Given the description of an element on the screen output the (x, y) to click on. 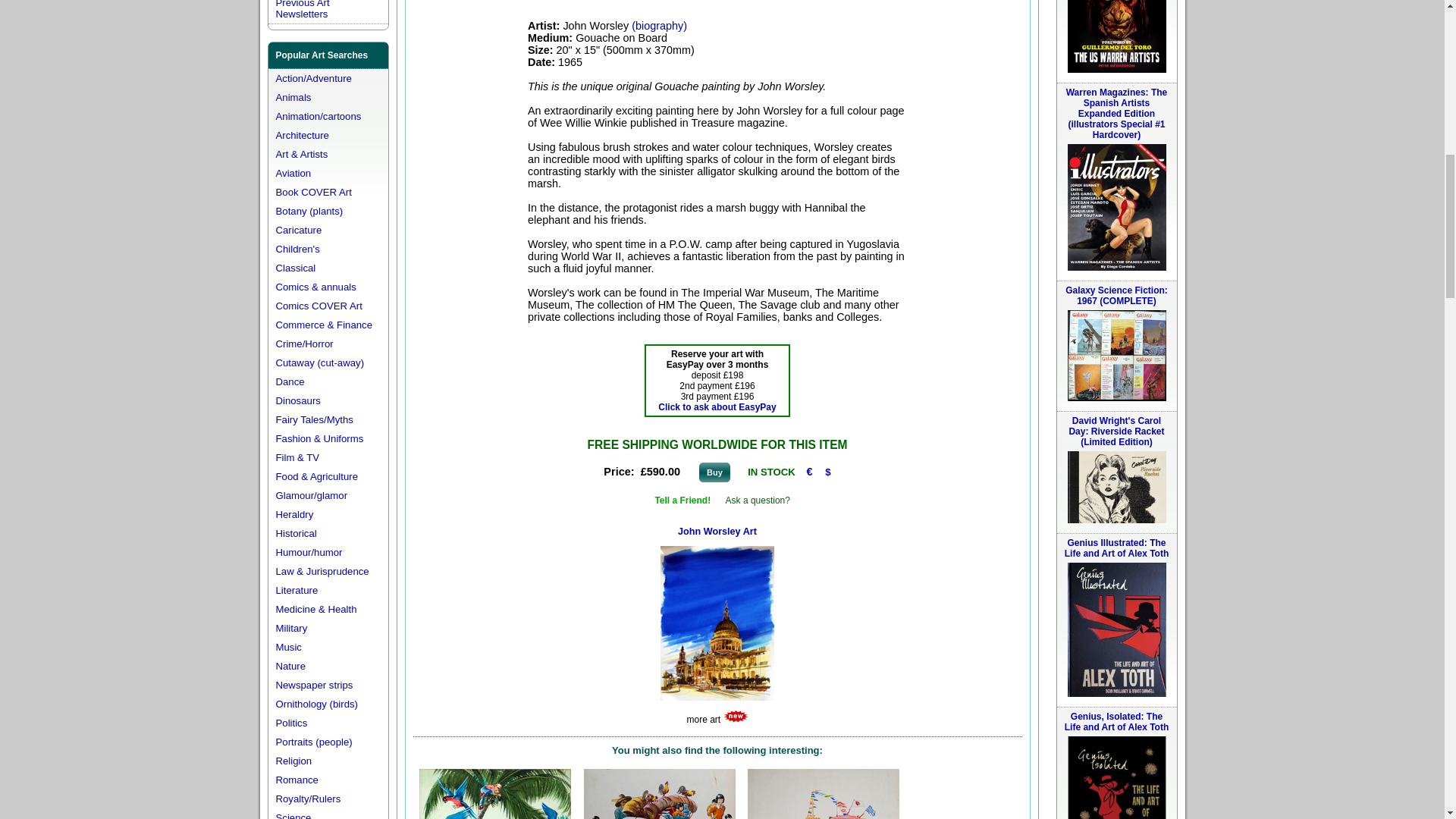
Buy (714, 472)
